Given the description of an element on the screen output the (x, y) to click on. 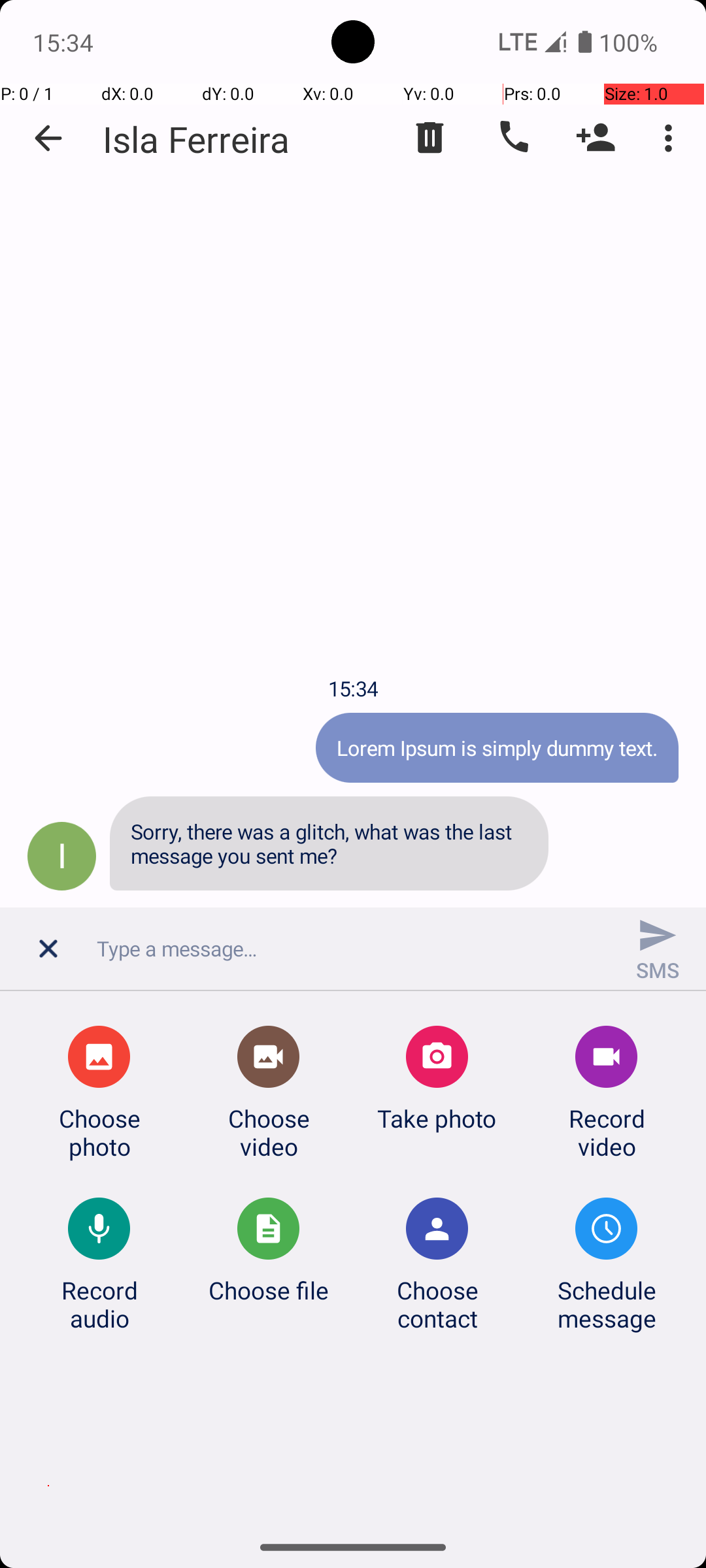
Isla Ferreira Element type: android.widget.TextView (195, 138)
Lorem Ipsum is simply dummy text. Element type: android.widget.TextView (496, 747)
Choose photo Element type: android.widget.TextView (98, 1131)
Choose video Element type: android.widget.TextView (268, 1131)
Record video Element type: android.widget.TextView (606, 1131)
Record audio Element type: android.widget.TextView (98, 1303)
Choose file Element type: android.widget.TextView (268, 1289)
Choose contact Element type: android.widget.TextView (436, 1303)
Schedule message Element type: android.widget.TextView (606, 1303)
